Given the description of an element on the screen output the (x, y) to click on. 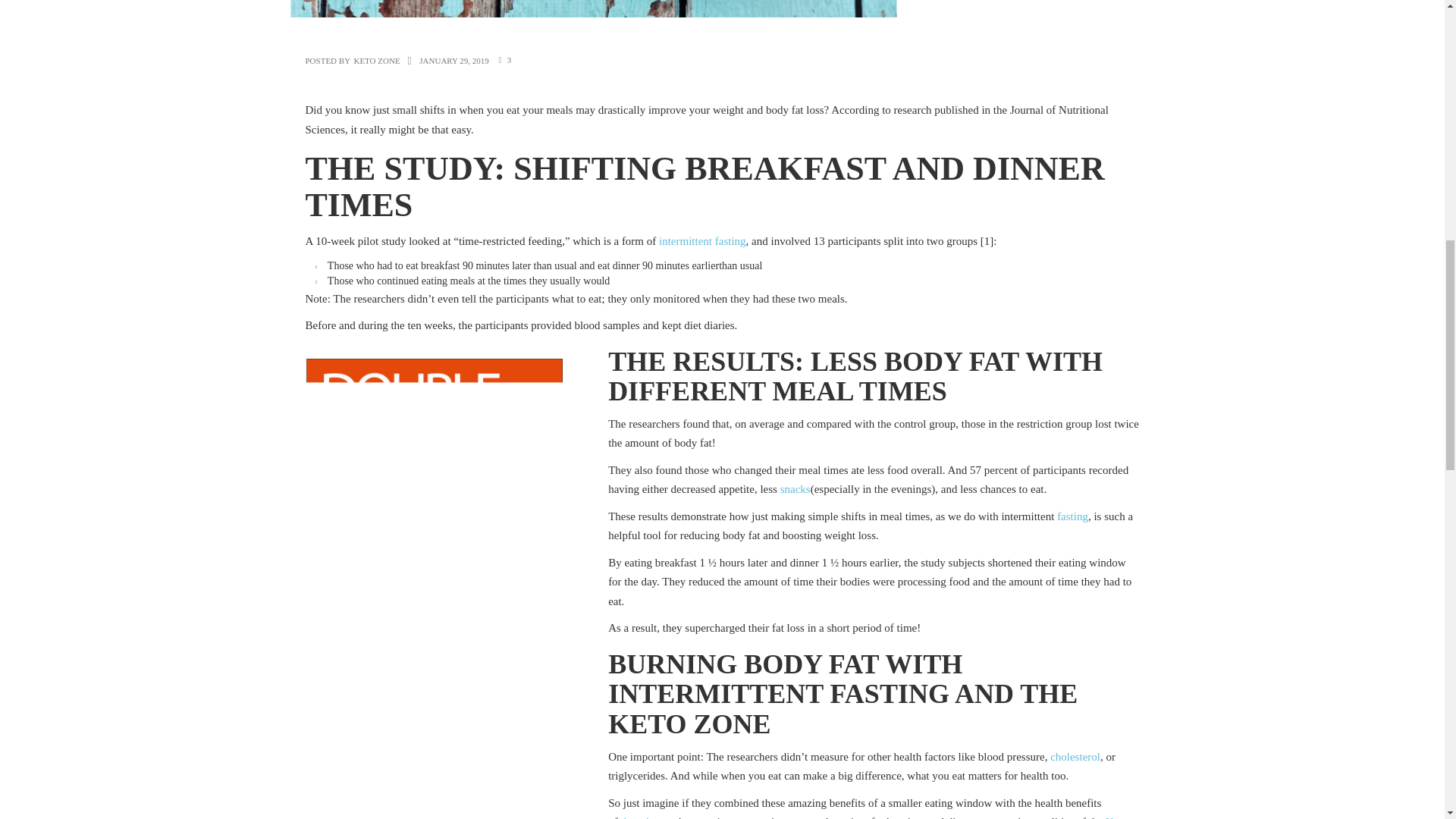
fasting (1072, 516)
Posts by Keto Zone (376, 60)
detoxing (640, 817)
3 (509, 60)
snacks (795, 489)
cholesterol (1074, 756)
intermittent fasting (702, 241)
KETO ZONE (376, 60)
